Given the description of an element on the screen output the (x, y) to click on. 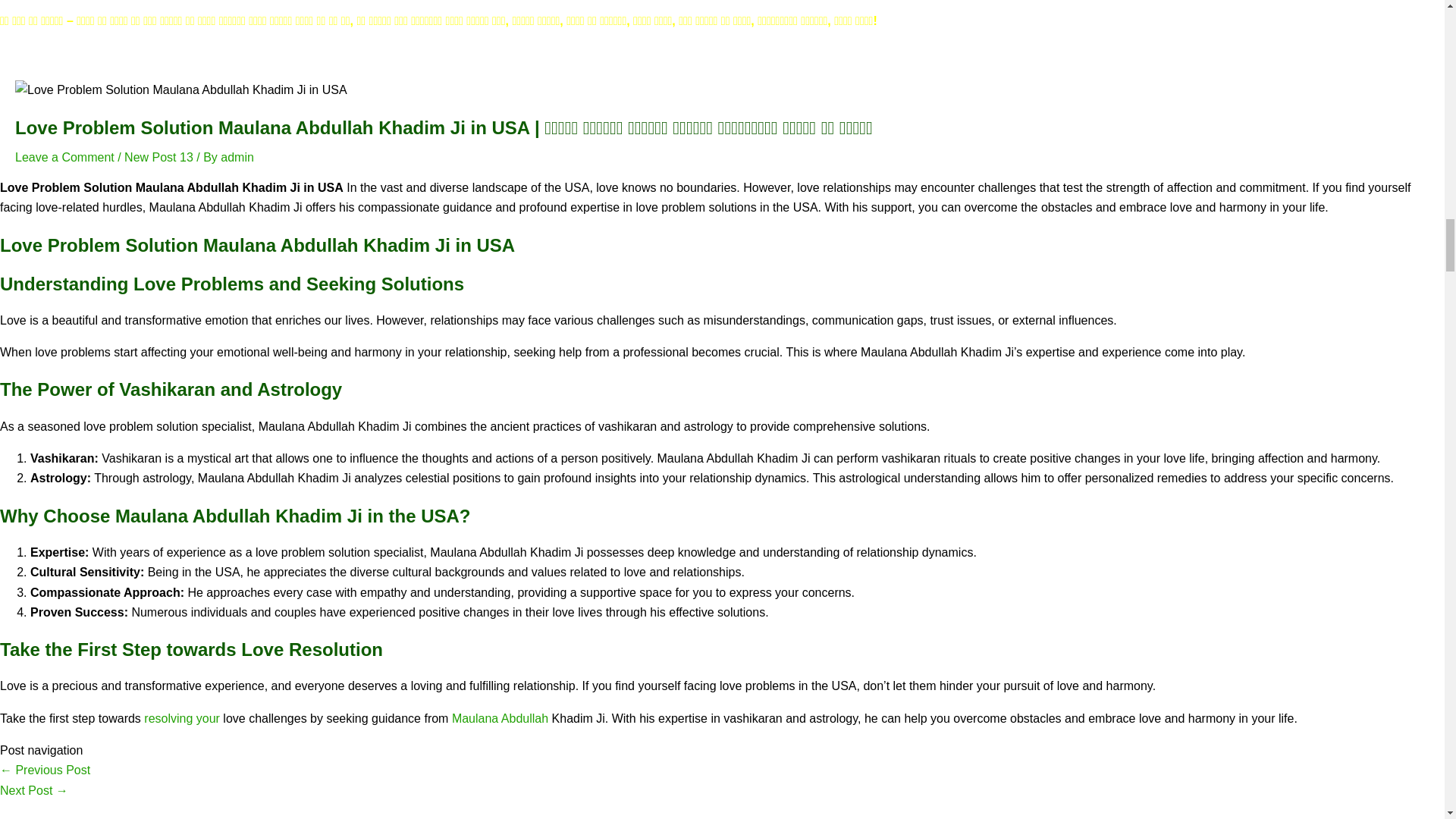
resolving your (181, 717)
View all posts by admin (237, 156)
admin (237, 156)
Maulana Abdullah (499, 717)
Leave a Comment (64, 156)
New Post 13 (158, 156)
